Given the description of an element on the screen output the (x, y) to click on. 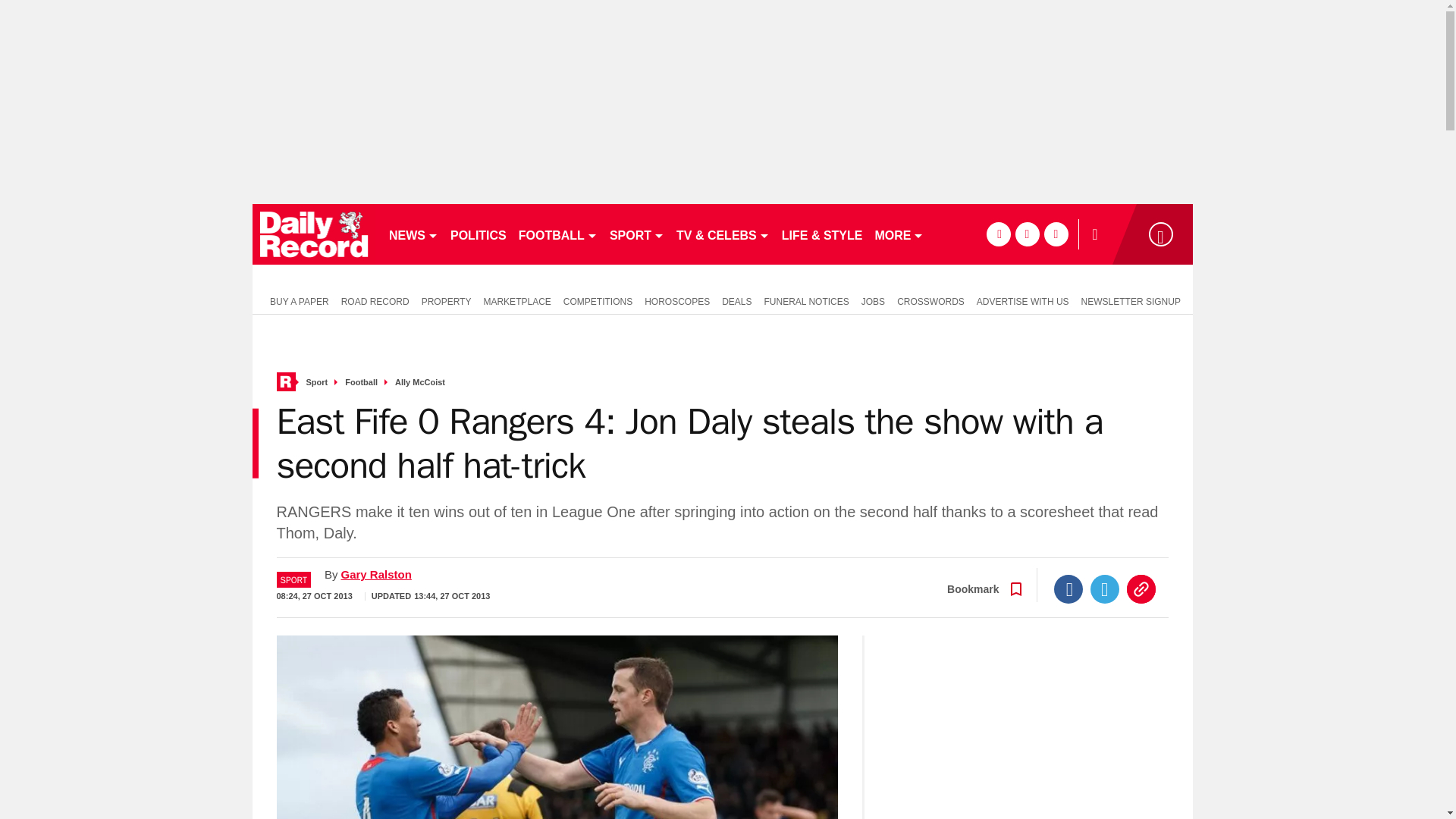
twitter (1026, 233)
dailyrecord (313, 233)
Twitter (1104, 588)
NEWS (413, 233)
POLITICS (478, 233)
instagram (1055, 233)
Facebook (1068, 588)
facebook (997, 233)
FOOTBALL (558, 233)
SPORT (636, 233)
